Given the description of an element on the screen output the (x, y) to click on. 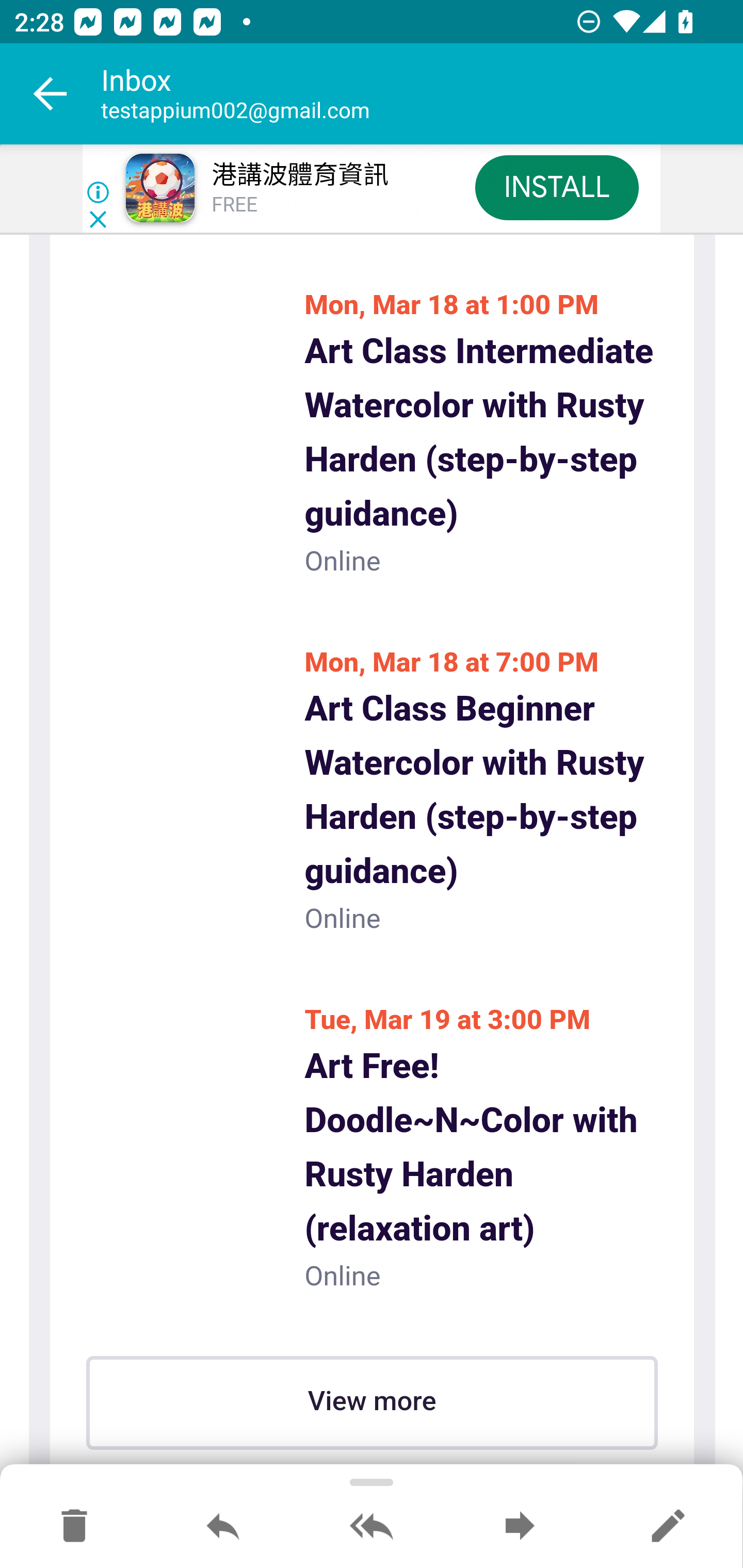
Navigate up (50, 93)
Inbox testappium002@gmail.com (422, 93)
INSTALL (556, 187)
港講波體育資訊 (299, 175)
FREE (234, 204)
View more (371, 1402)
Move to Deleted (74, 1527)
Reply (222, 1527)
Reply all (371, 1527)
Forward (519, 1527)
Reply as new (667, 1527)
